Given the description of an element on the screen output the (x, y) to click on. 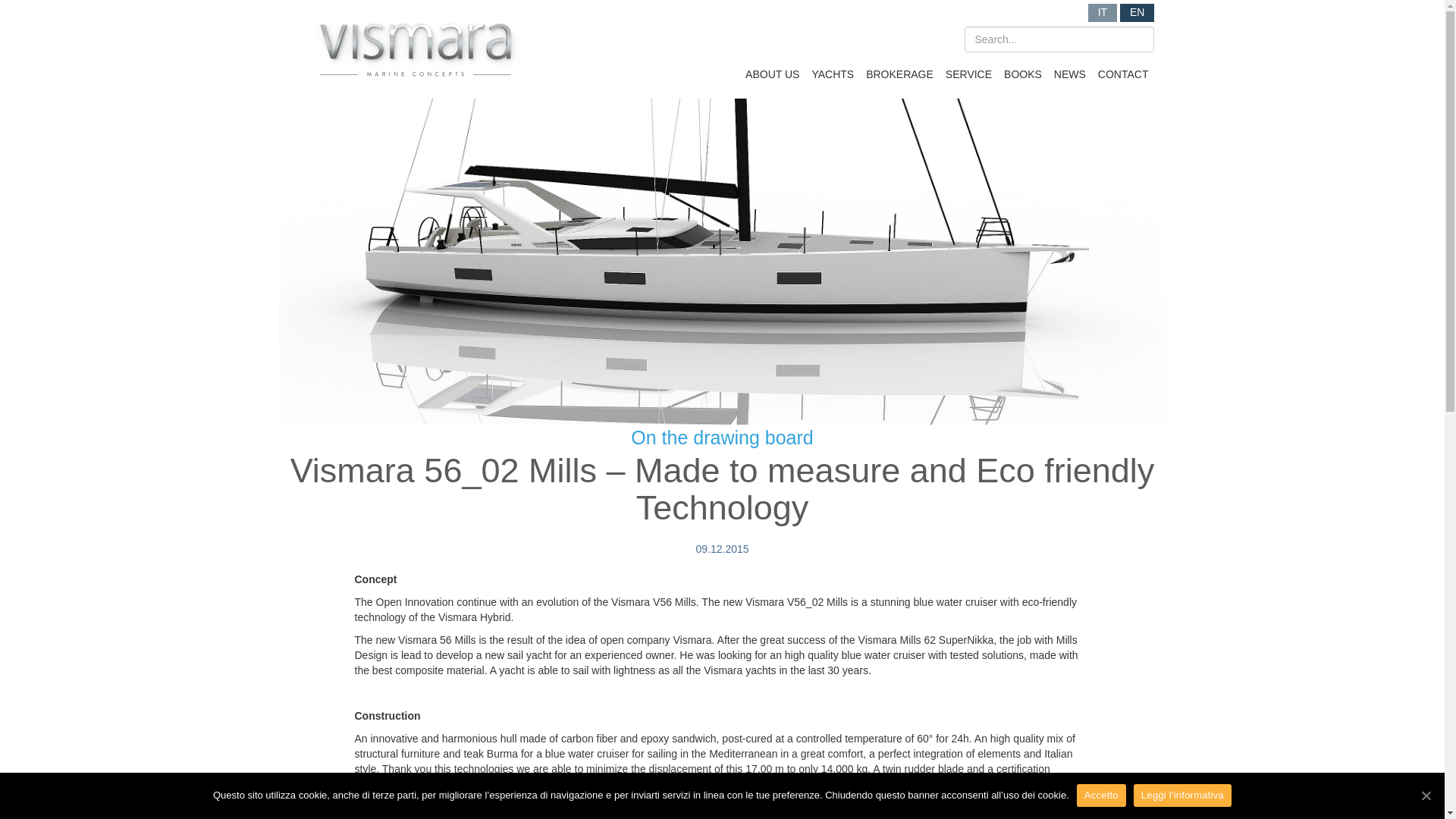
Service (967, 70)
On the drawing board (721, 436)
CONTACT (1122, 70)
YACHTS (831, 70)
EN (1136, 13)
BOOKS (1023, 70)
SERVICE (967, 70)
ABOUT US (772, 70)
BOOKS (1023, 70)
IT (1101, 13)
BROKERAGE (899, 70)
YACHTS (831, 70)
About Us (772, 70)
NEWS (1070, 70)
Brokerage (899, 70)
